Given the description of an element on the screen output the (x, y) to click on. 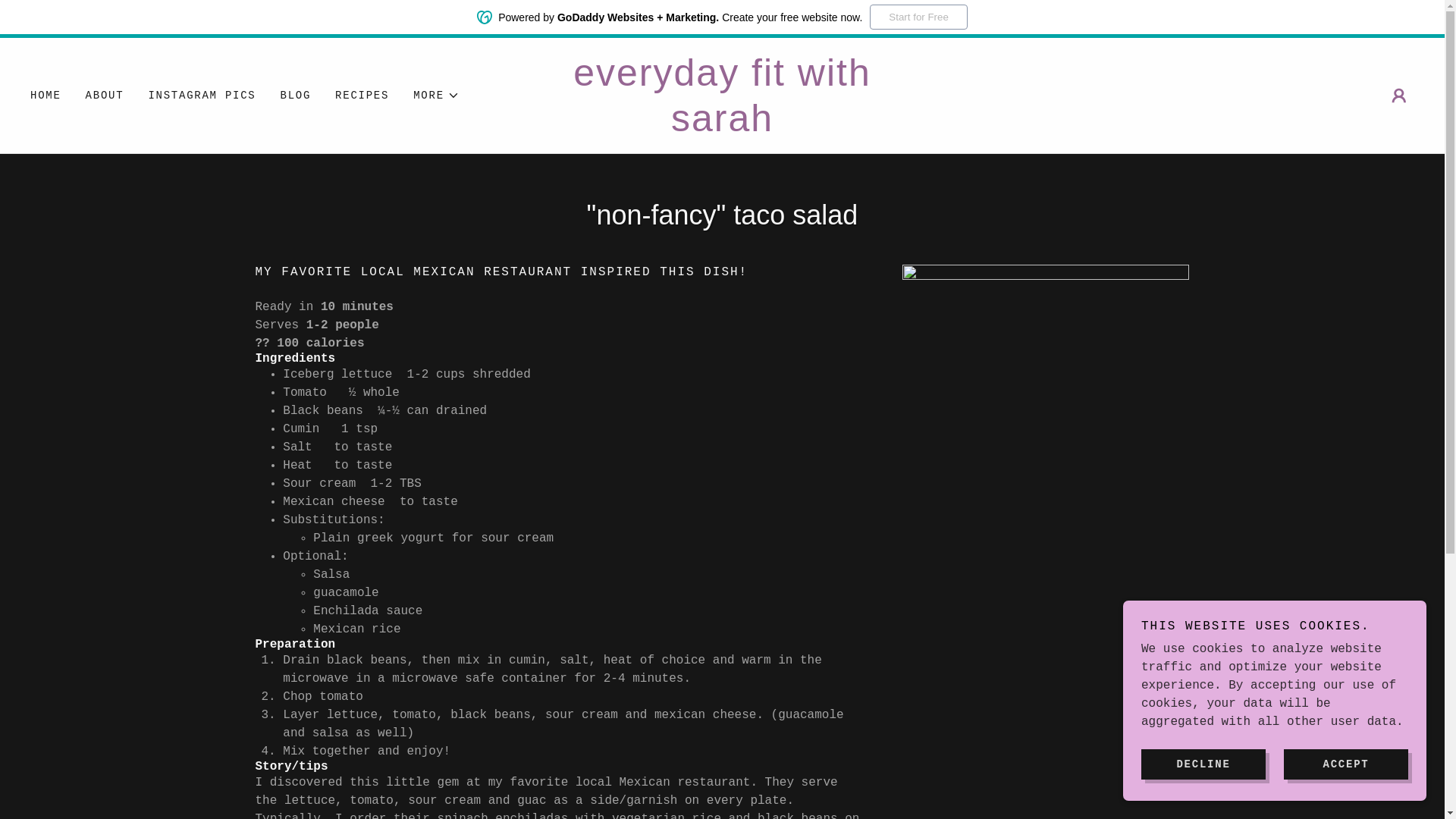
INSTAGRAM PICS (201, 94)
RECIPES (361, 94)
everyday fit with sarah (722, 128)
MORE (436, 95)
everyday fit with sarah (722, 128)
HOME (45, 94)
BLOG (295, 94)
ABOUT (105, 94)
